Given the description of an element on the screen output the (x, y) to click on. 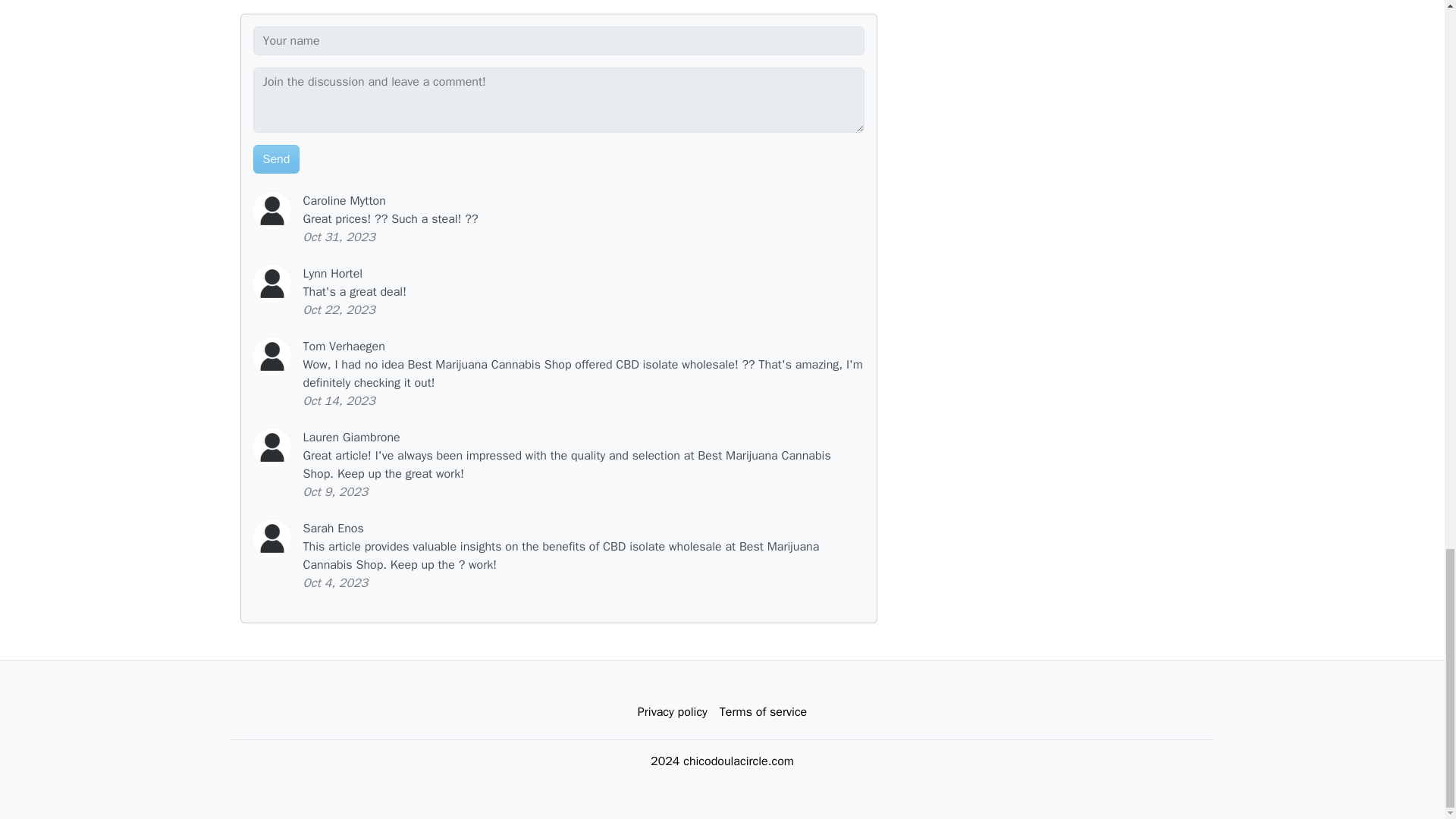
Send (276, 158)
Privacy policy (672, 711)
Terms of service (762, 711)
Send (276, 158)
